Given the description of an element on the screen output the (x, y) to click on. 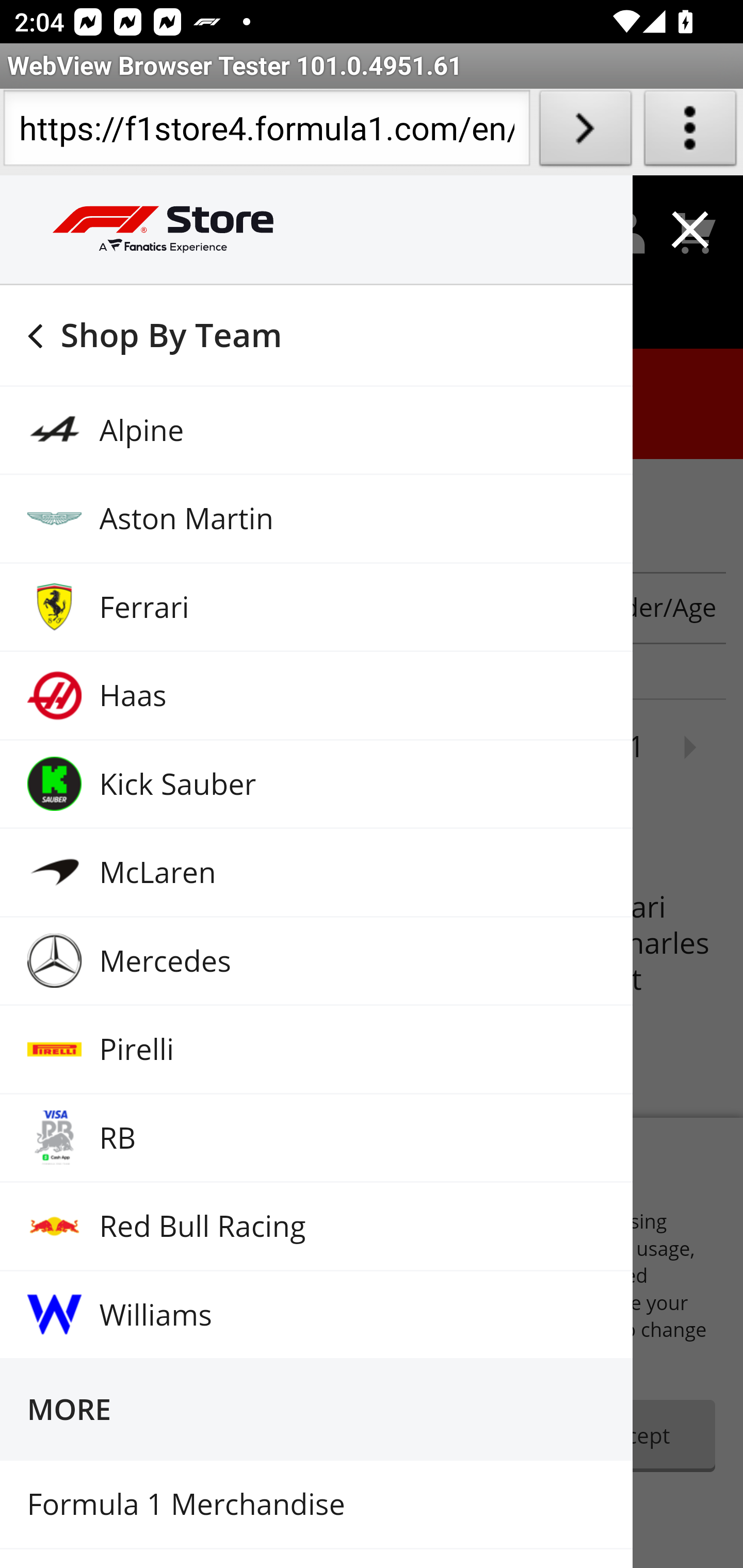
Load URL (585, 132)
About WebView (690, 132)
TEAMWEAR (371, 506)
Product Filters (132, 607)
